Given the description of an element on the screen output the (x, y) to click on. 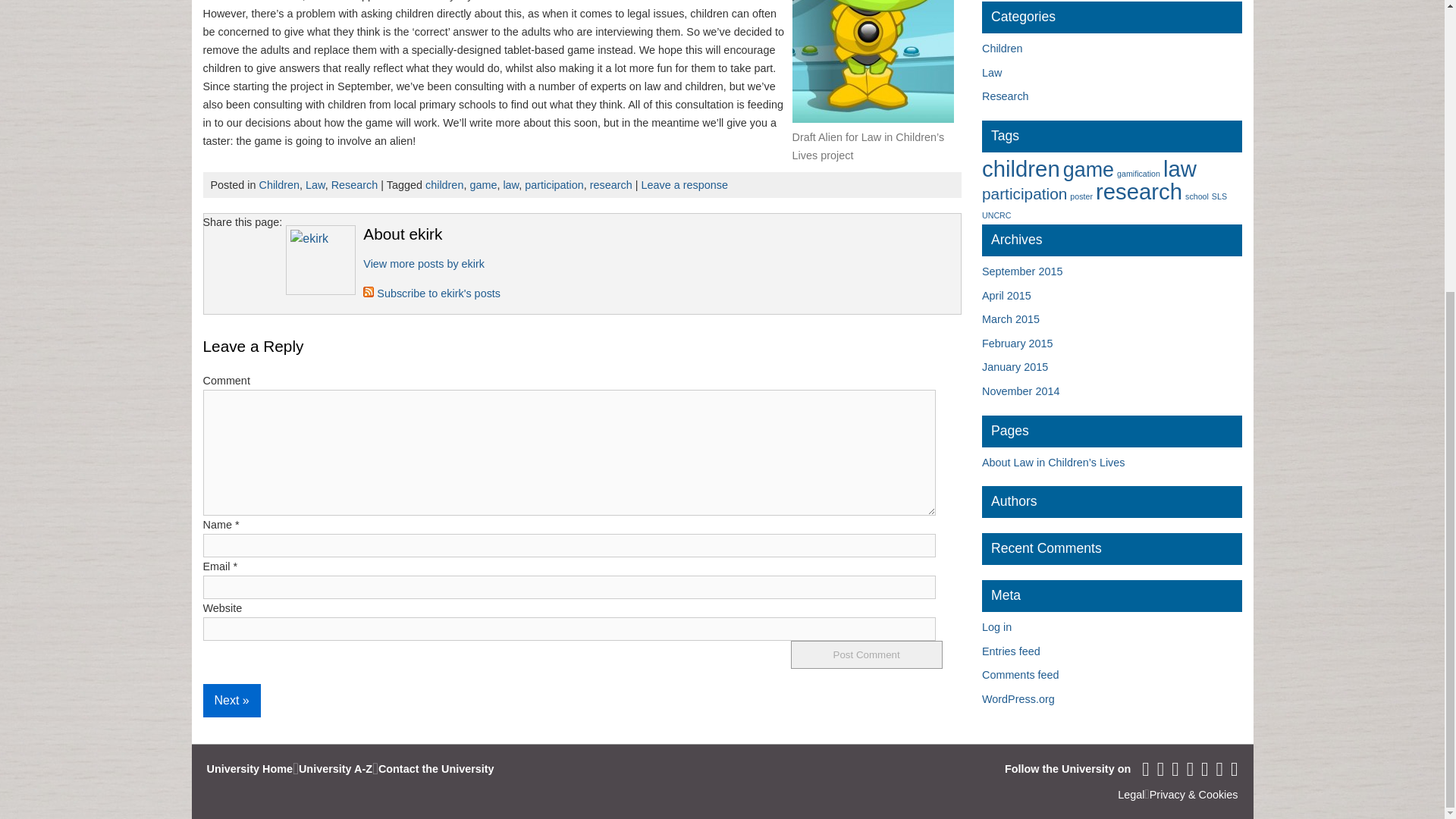
Research (354, 184)
participation (553, 184)
Children (279, 184)
game (482, 184)
View more posts by ekirk (423, 263)
Subscribe to ekirk's posts (431, 293)
research (610, 184)
law (510, 184)
Post Comment (866, 654)
Post Comment (866, 654)
children (444, 184)
Children (1002, 48)
Law (314, 184)
Leave a response (685, 184)
ekirk (423, 263)
